Given the description of an element on the screen output the (x, y) to click on. 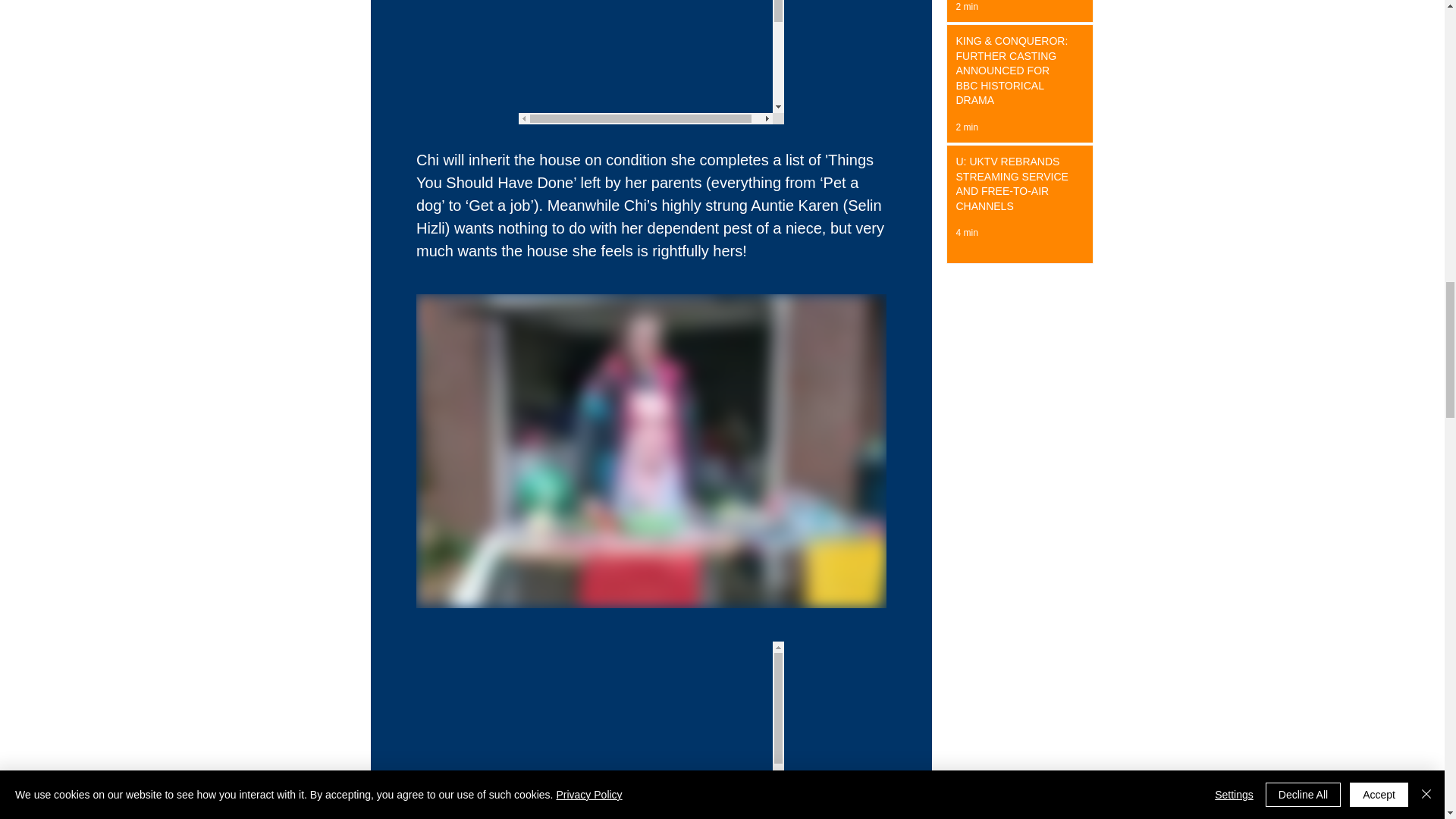
2 min (965, 6)
remote content (651, 730)
4 min (965, 232)
remote content (651, 62)
2 min (965, 127)
